Given the description of an element on the screen output the (x, y) to click on. 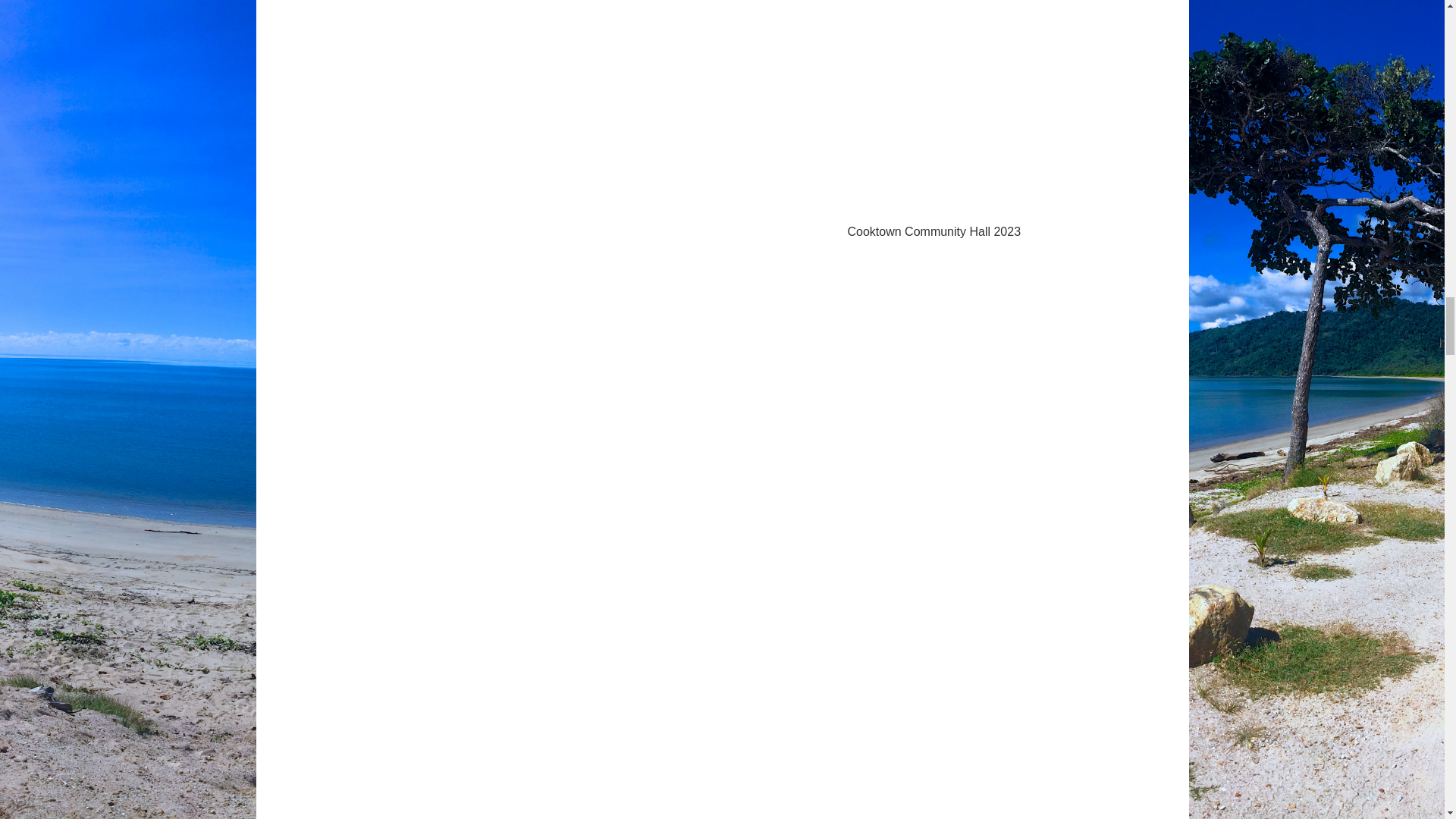
129 Hope Street Cooktown Qld 4895 (961, 501)
